Given the description of an element on the screen output the (x, y) to click on. 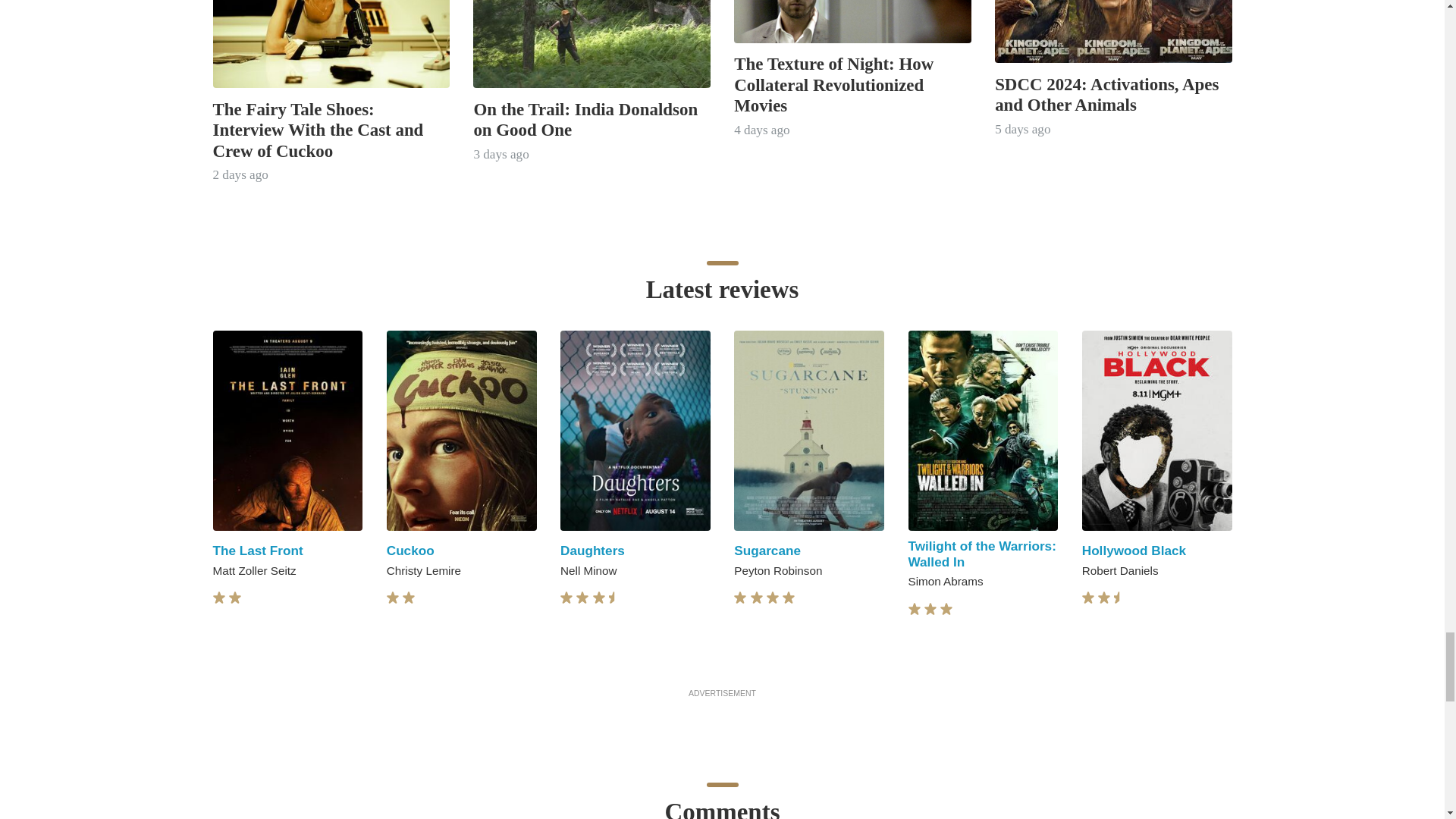
The Texture of Night: How Collateral Revolutionized Movies (833, 84)
star-full (218, 597)
star-full (408, 597)
star-full (392, 597)
On the Trail: India Donaldson on Good One (585, 119)
star-full (582, 597)
SDCC 2024: Activations, Apes and Other Animals (1106, 94)
star-full (598, 597)
star-full (566, 597)
